Given the description of an element on the screen output the (x, y) to click on. 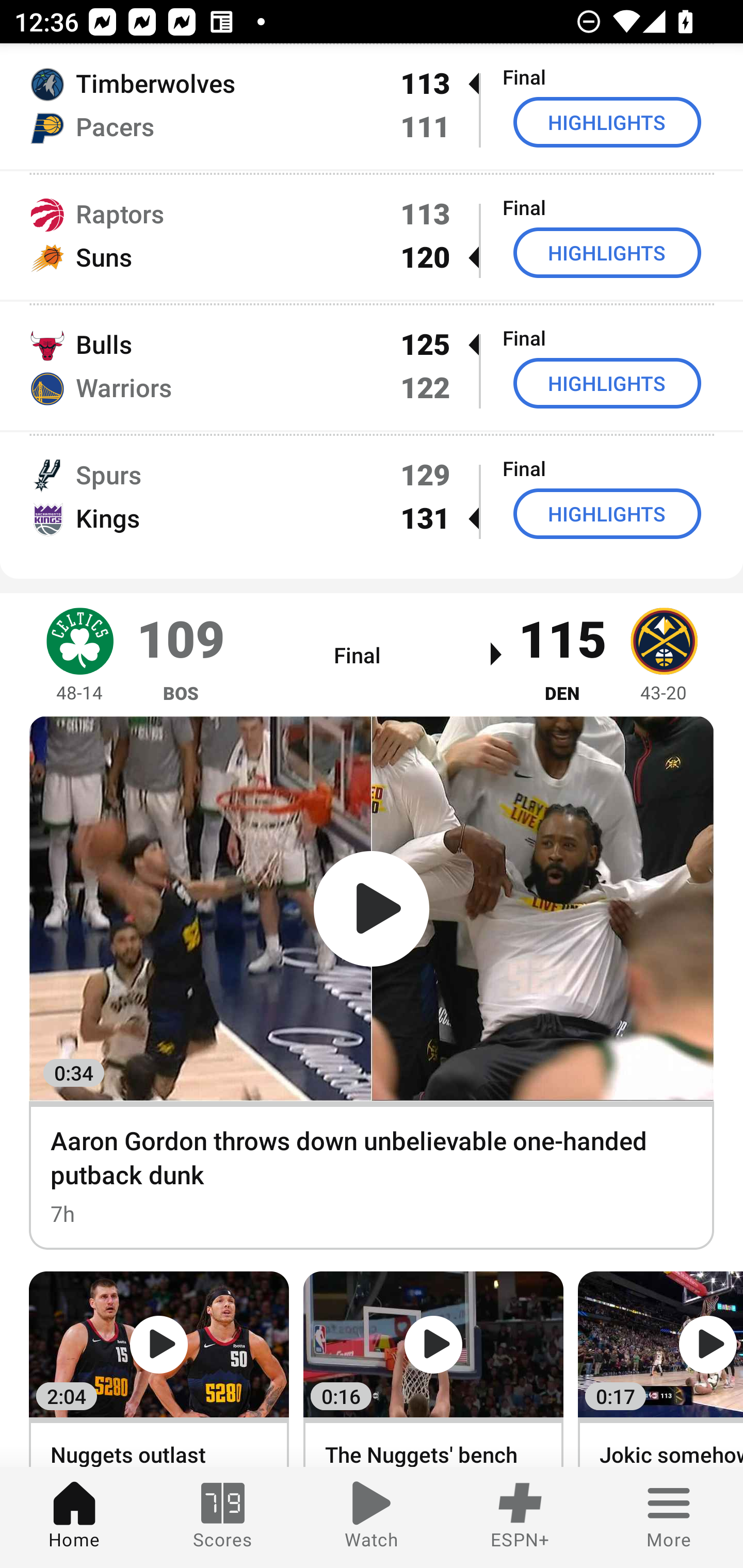
Timberwolves 113  Final Pacers 111 HIGHLIGHTS (371, 106)
HIGHLIGHTS (607, 122)
Raptors 113 Final Suns 120  HIGHLIGHTS (371, 234)
HIGHLIGHTS (607, 252)
Bulls 125  Final Warriors 122 HIGHLIGHTS (371, 365)
HIGHLIGHTS (607, 383)
Spurs 129 Final Kings 131  HIGHLIGHTS (371, 496)
HIGHLIGHTS (607, 514)
Scores (222, 1517)
Watch (371, 1517)
ESPN+ (519, 1517)
More (668, 1517)
